Given the description of an element on the screen output the (x, y) to click on. 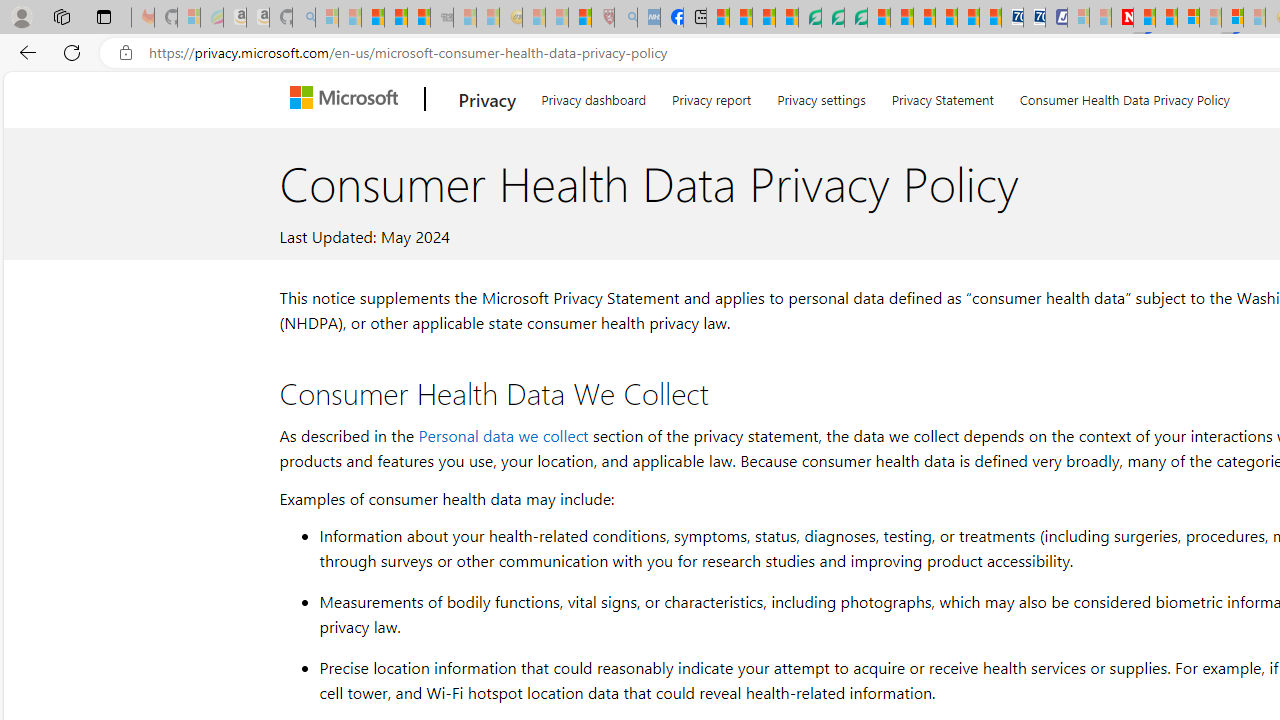
Cheap Hotels - Save70.com (1034, 17)
Privacy Statement (942, 96)
Privacy dashboard (593, 96)
14 Common Myths Debunked By Scientific Facts (1166, 17)
Personal data we collect (503, 434)
Microsoft Word - consumer-privacy address update 2.2021 (855, 17)
The Weather Channel - MSN (372, 17)
Local - MSN (580, 17)
